Given the description of an element on the screen output the (x, y) to click on. 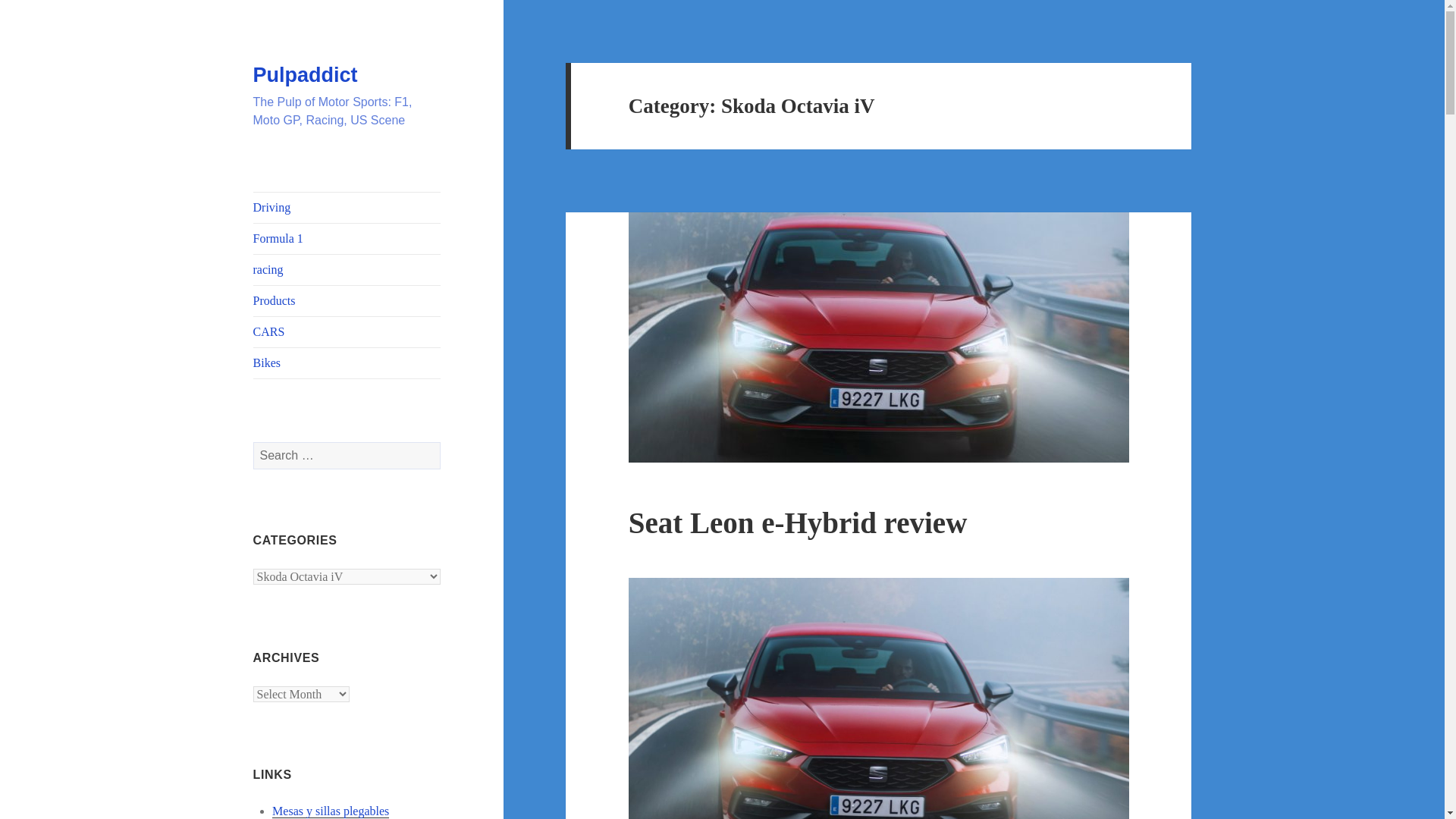
Mesas y sillas plegables (330, 811)
Pulpaddict (305, 74)
CARS (347, 331)
Products (347, 300)
racing (347, 269)
Formula 1 (347, 238)
Driving (347, 207)
